Given the description of an element on the screen output the (x, y) to click on. 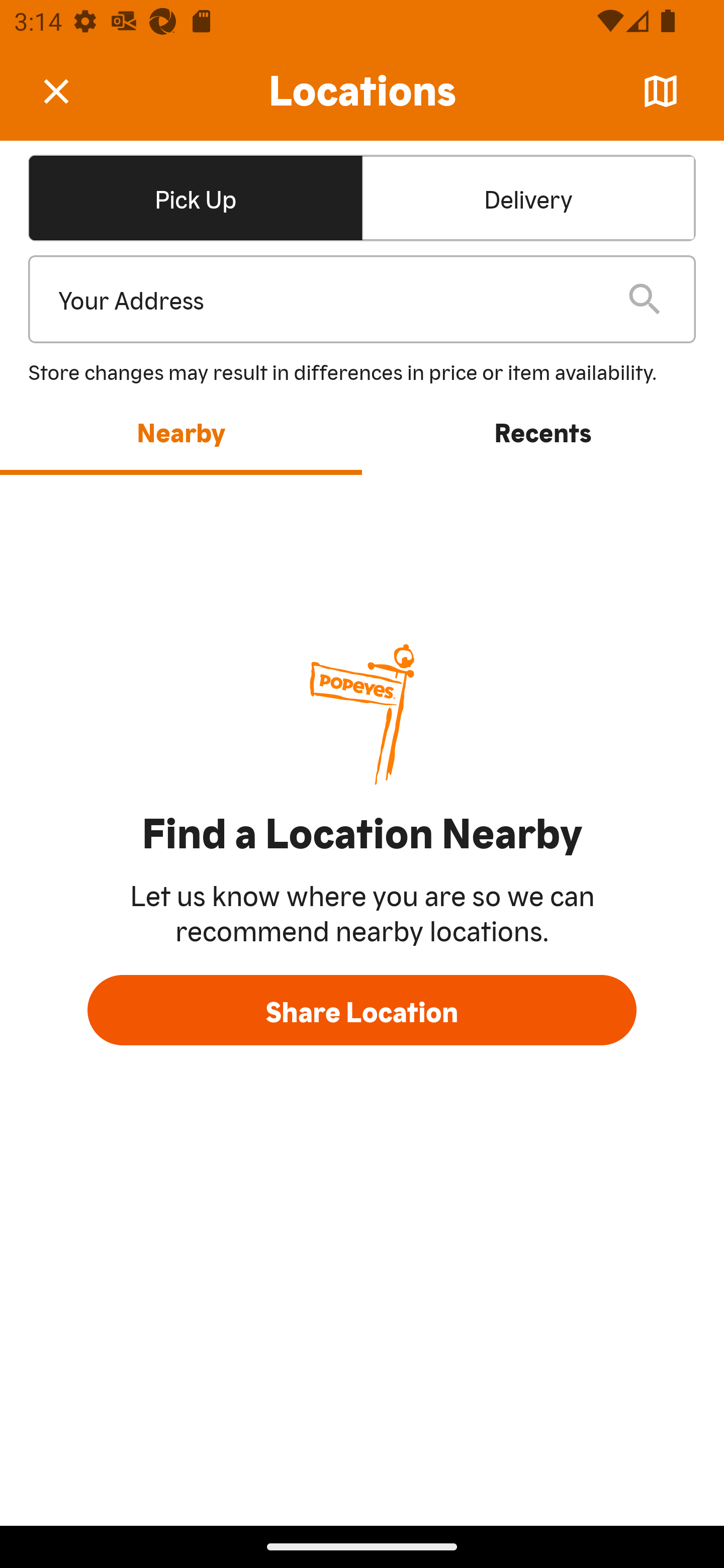
 (70, 90)
Map 󰦂 (660, 91)
Locations (362, 91)
Pick UpSelected Pick UpSelected Pick Up (195, 197)
Delivery Delivery Delivery (528, 197)
Your Address (327, 299)
Nearby (181, 430)
Recents (543, 430)
Share Location (361, 1010)
